Given the description of an element on the screen output the (x, y) to click on. 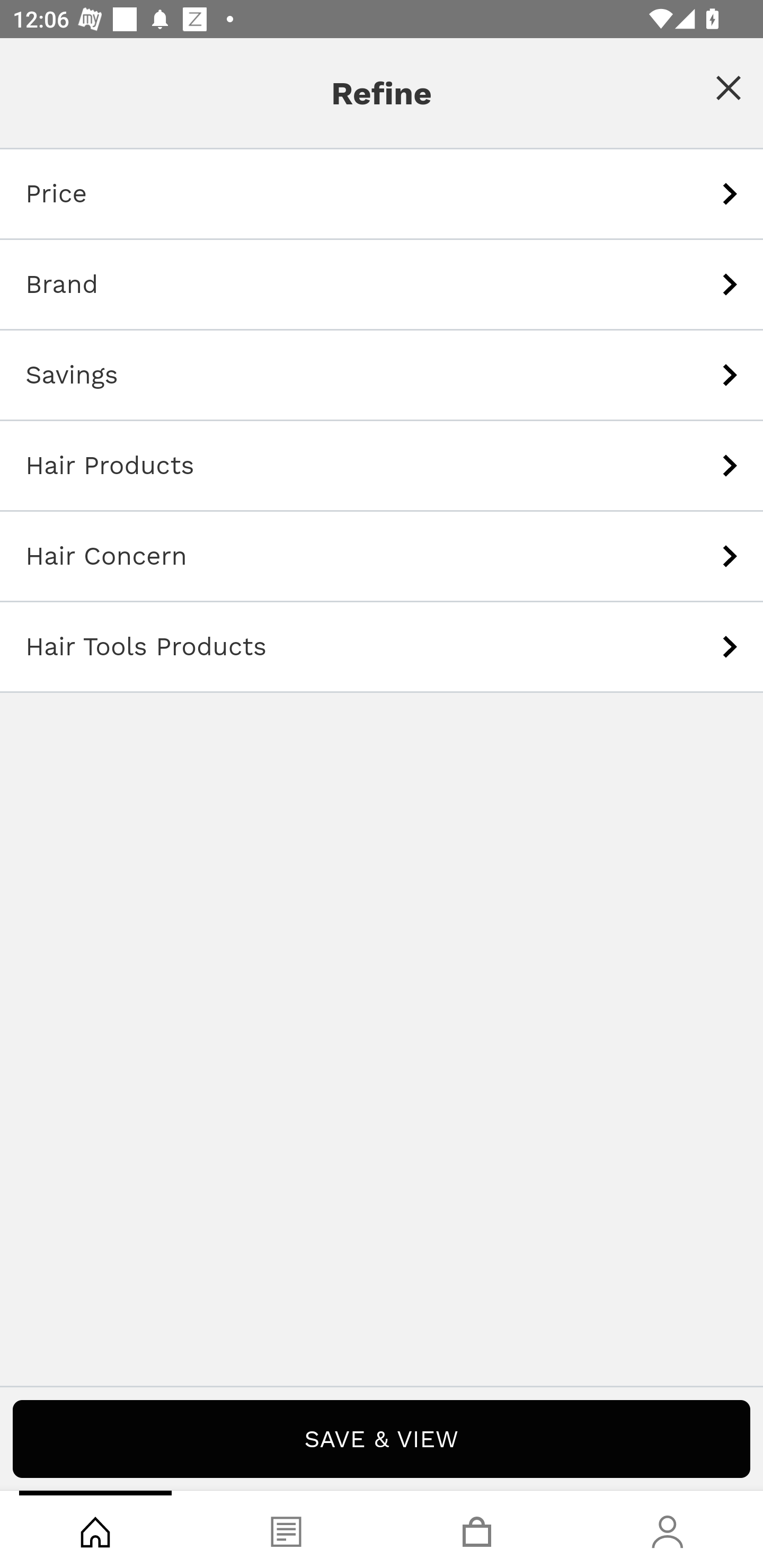
Lookfantastic USA (381, 75)
Read more (381, 564)
Shop, tab, 1 of 4 (95, 1529)
Blog, tab, 2 of 4 (285, 1529)
Basket, tab, 3 of 4 (476, 1529)
Account, tab, 4 of 4 (667, 1529)
